Given the description of an element on the screen output the (x, y) to click on. 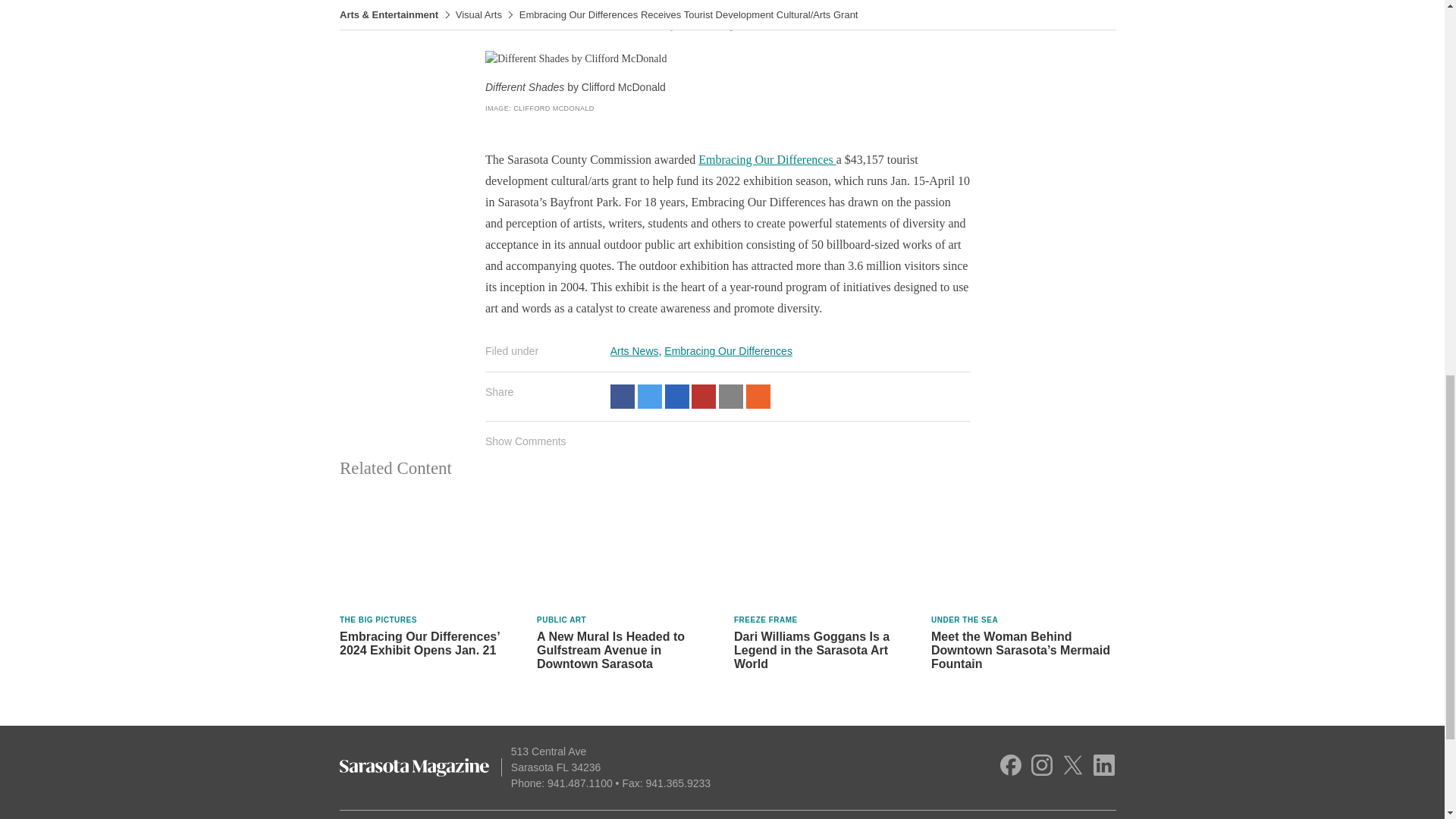
Share on LinkedIn (675, 396)
Share on Twitter (649, 396)
Share on Facebook (622, 396)
Share via Email (730, 396)
Share on Pinterest (703, 396)
Share on Reddit (757, 396)
